Given the description of an element on the screen output the (x, y) to click on. 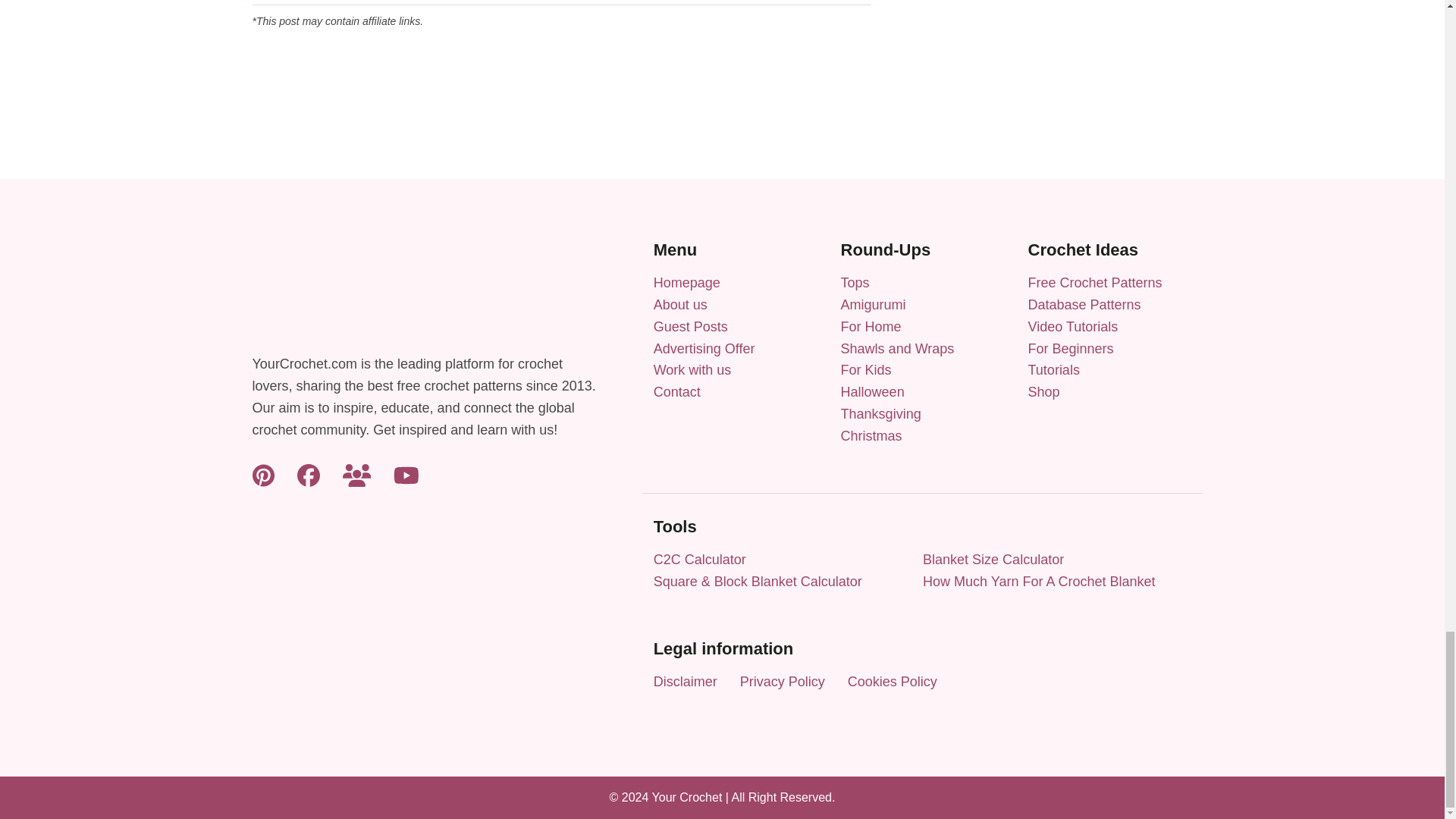
Facebook Group YourCrochet (356, 474)
Facebook YourCrochet (308, 474)
Work with us (692, 369)
About us (680, 304)
Guest Posts (690, 326)
Your Crochet (686, 282)
Youtube YourCrochet (406, 474)
Pinterest YourCrochet (262, 474)
Advertising Offer (704, 348)
